Given the description of an element on the screen output the (x, y) to click on. 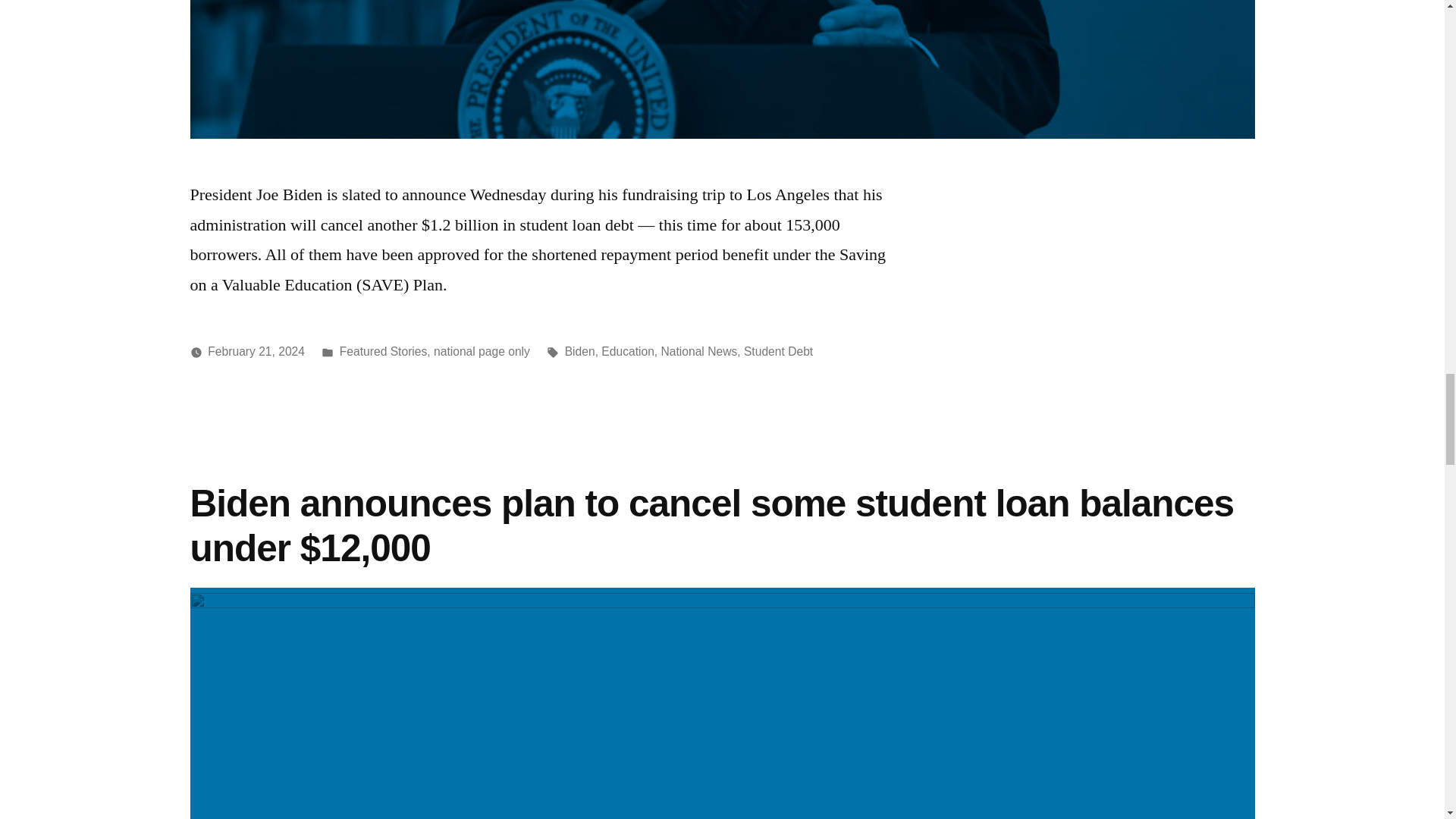
Biden (579, 350)
National News (699, 350)
national page only (481, 350)
Featured Stories (383, 350)
Education (627, 350)
February 21, 2024 (256, 350)
Student Debt (778, 350)
